Given the description of an element on the screen output the (x, y) to click on. 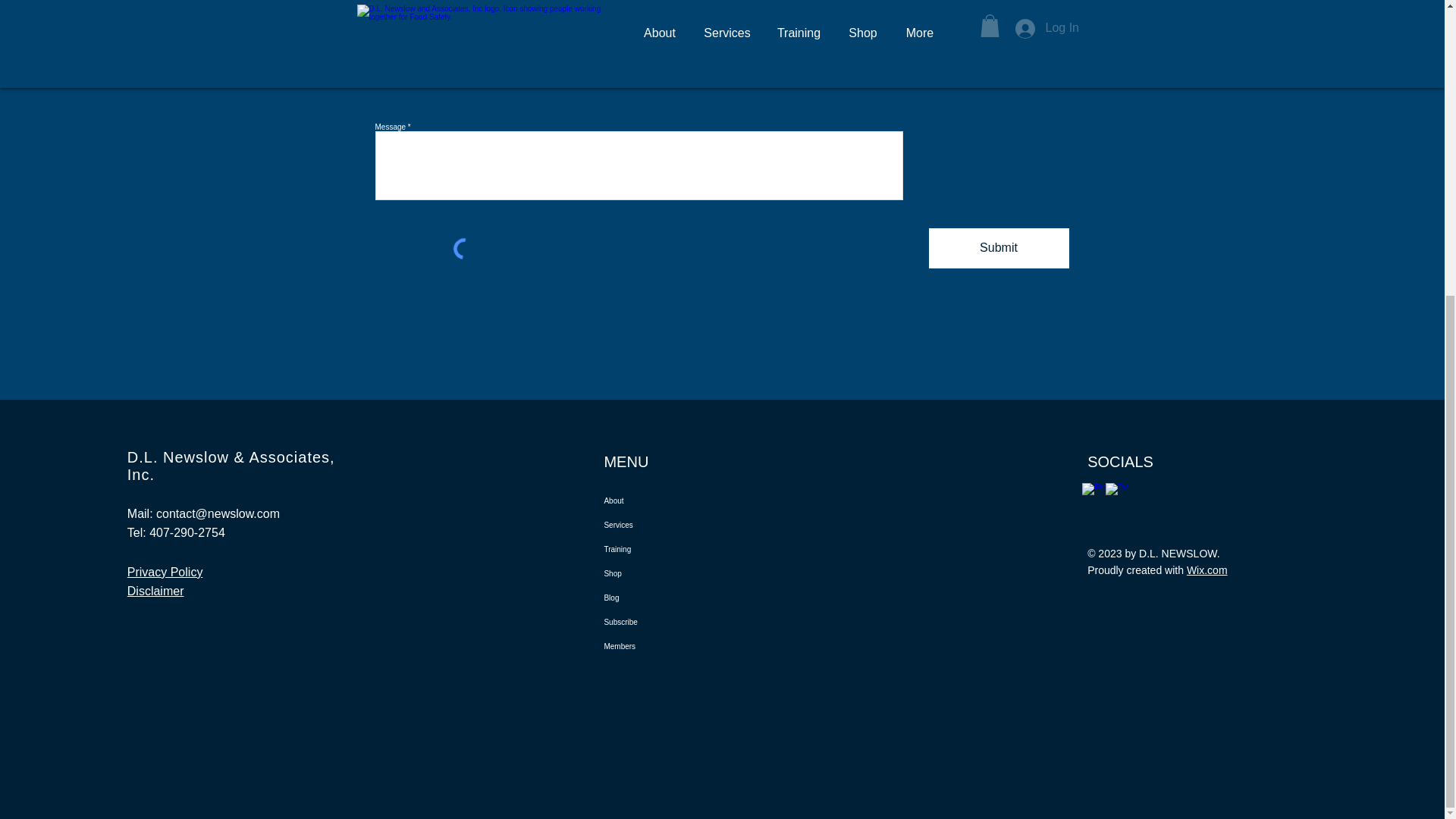
Disclaimer (156, 590)
Services (673, 525)
Blog (673, 598)
About (673, 500)
Members (673, 646)
Wix.com (1206, 570)
Submit (998, 248)
Shop (673, 573)
Training (673, 549)
Subscribe (673, 622)
Privacy Policy (165, 571)
